Given the description of an element on the screen output the (x, y) to click on. 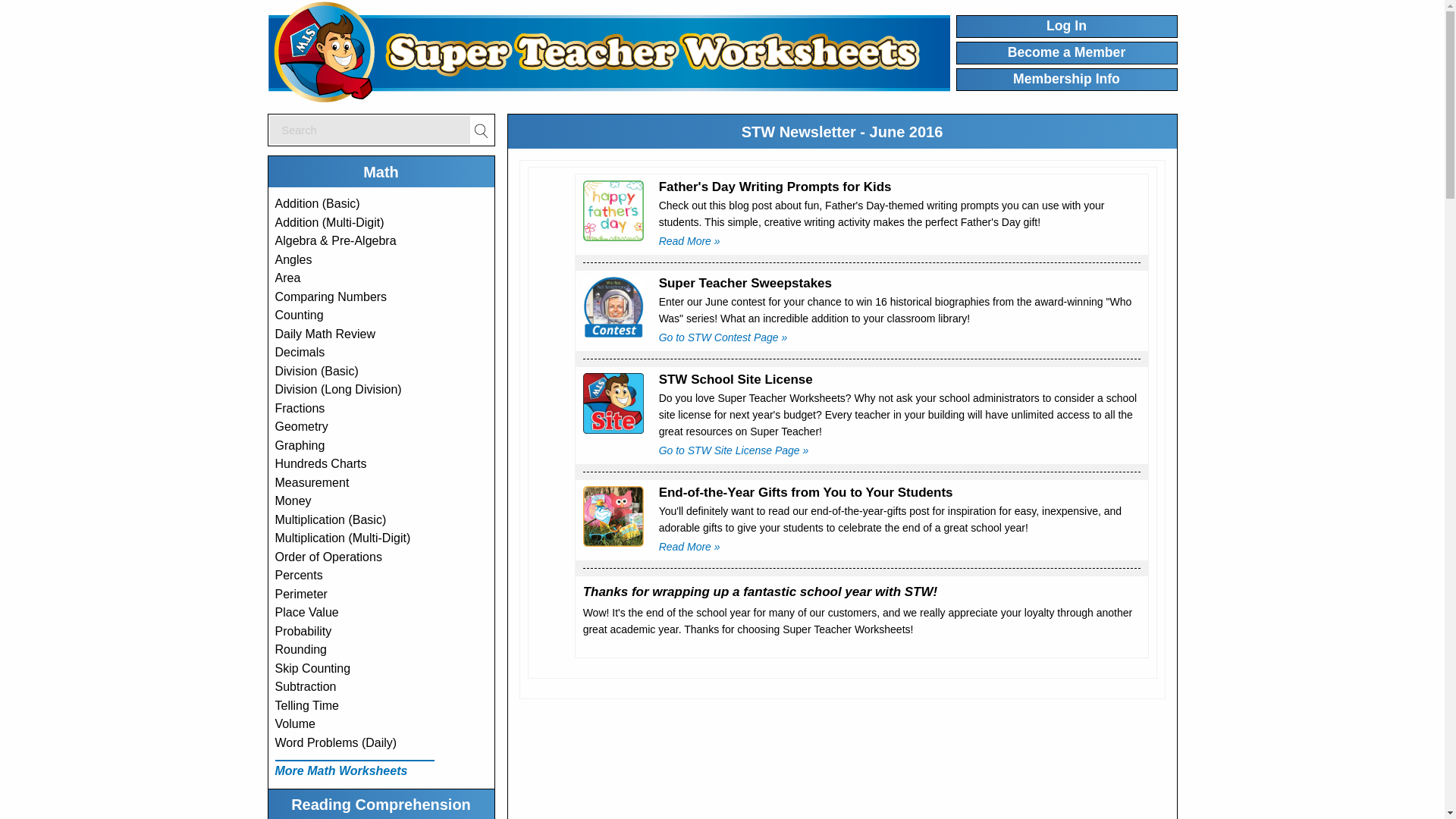
Rounding (300, 649)
Greater Than, Less Than Worksheets (331, 295)
Fraction Worksheets (299, 408)
Decimals (299, 351)
Hundreds Charts (320, 463)
Geometry (301, 426)
Skip Counting (312, 667)
More Math Worksheets (341, 770)
Money (293, 500)
Subtraction (305, 686)
